Given the description of an element on the screen output the (x, y) to click on. 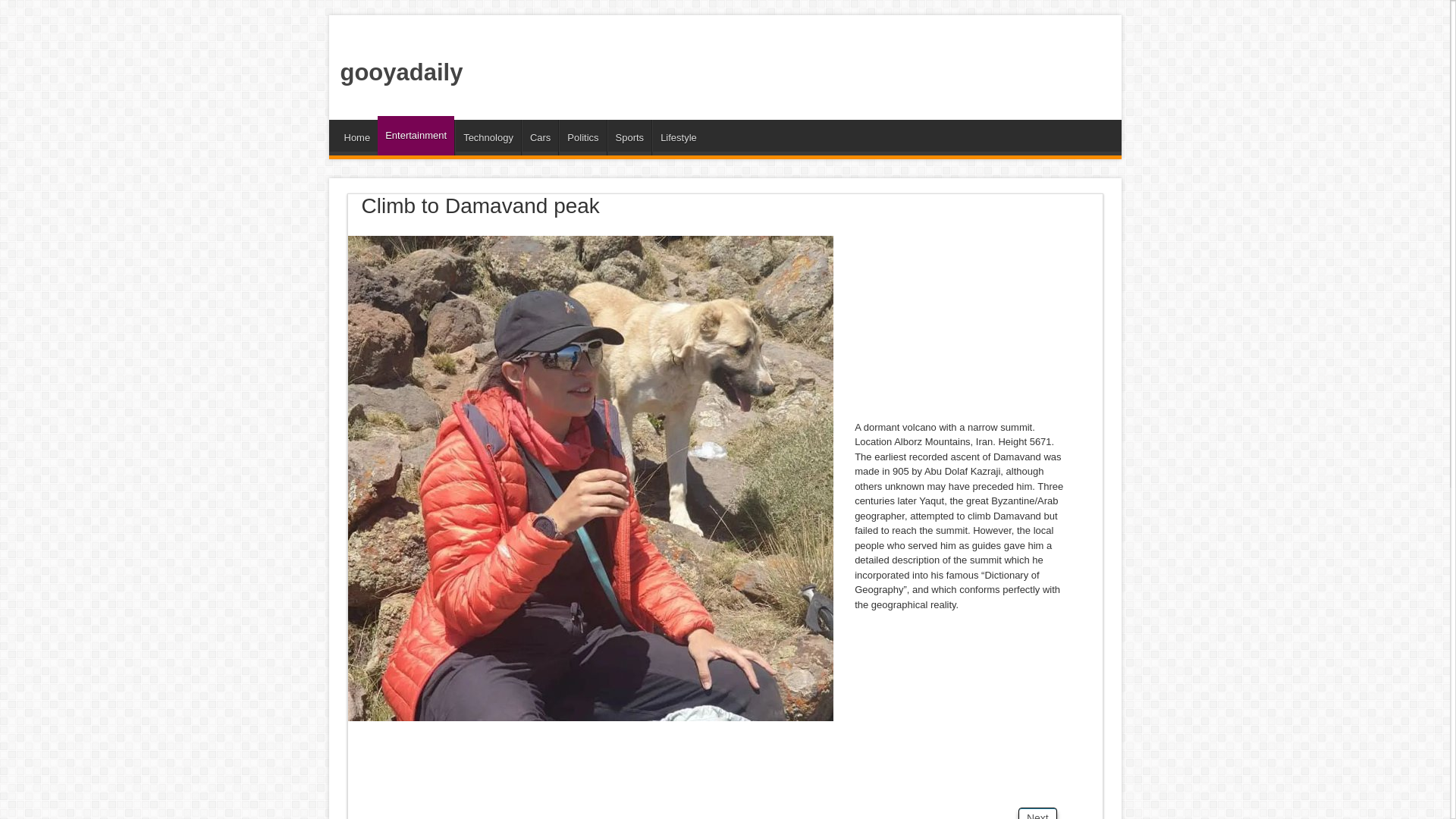
Next (1037, 813)
Advertisement (738, 64)
gooyadaily (401, 71)
Entertainment (415, 135)
Politics (582, 137)
Cars (539, 137)
Home (357, 137)
Lifestyle (678, 137)
Advertisement (623, 769)
Sports (629, 137)
Technology (487, 137)
Advertisement (957, 320)
